Given the description of an element on the screen output the (x, y) to click on. 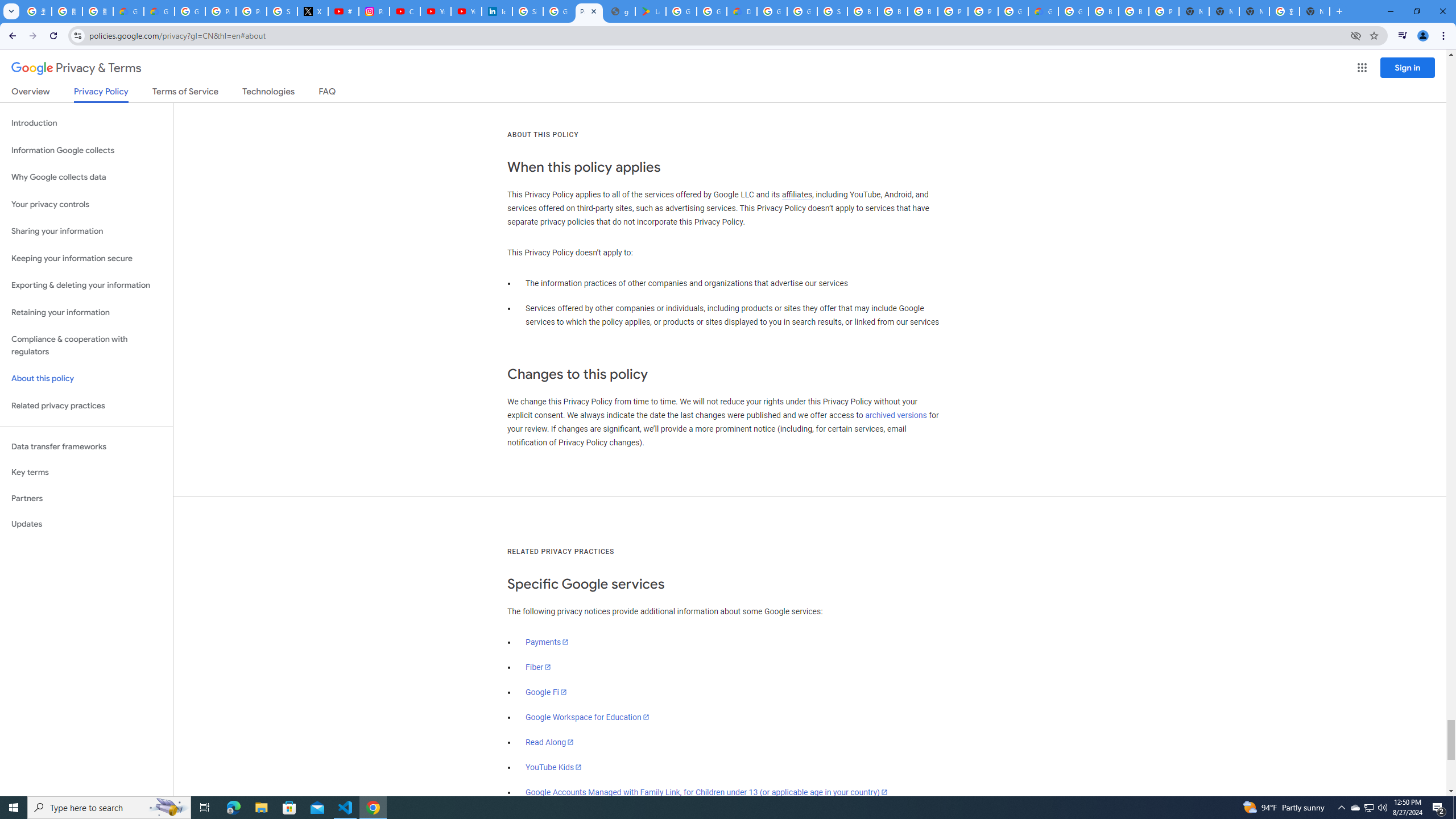
Sharing your information (86, 230)
Technologies (268, 93)
Your privacy controls (86, 204)
Google Workspace for Education (587, 716)
Google Cloud Estimate Summary (1042, 11)
Payments (547, 642)
YouTube Culture & Trends - YouTube Top 10, 2021 (465, 11)
Data transfer frameworks (86, 446)
